Given the description of an element on the screen output the (x, y) to click on. 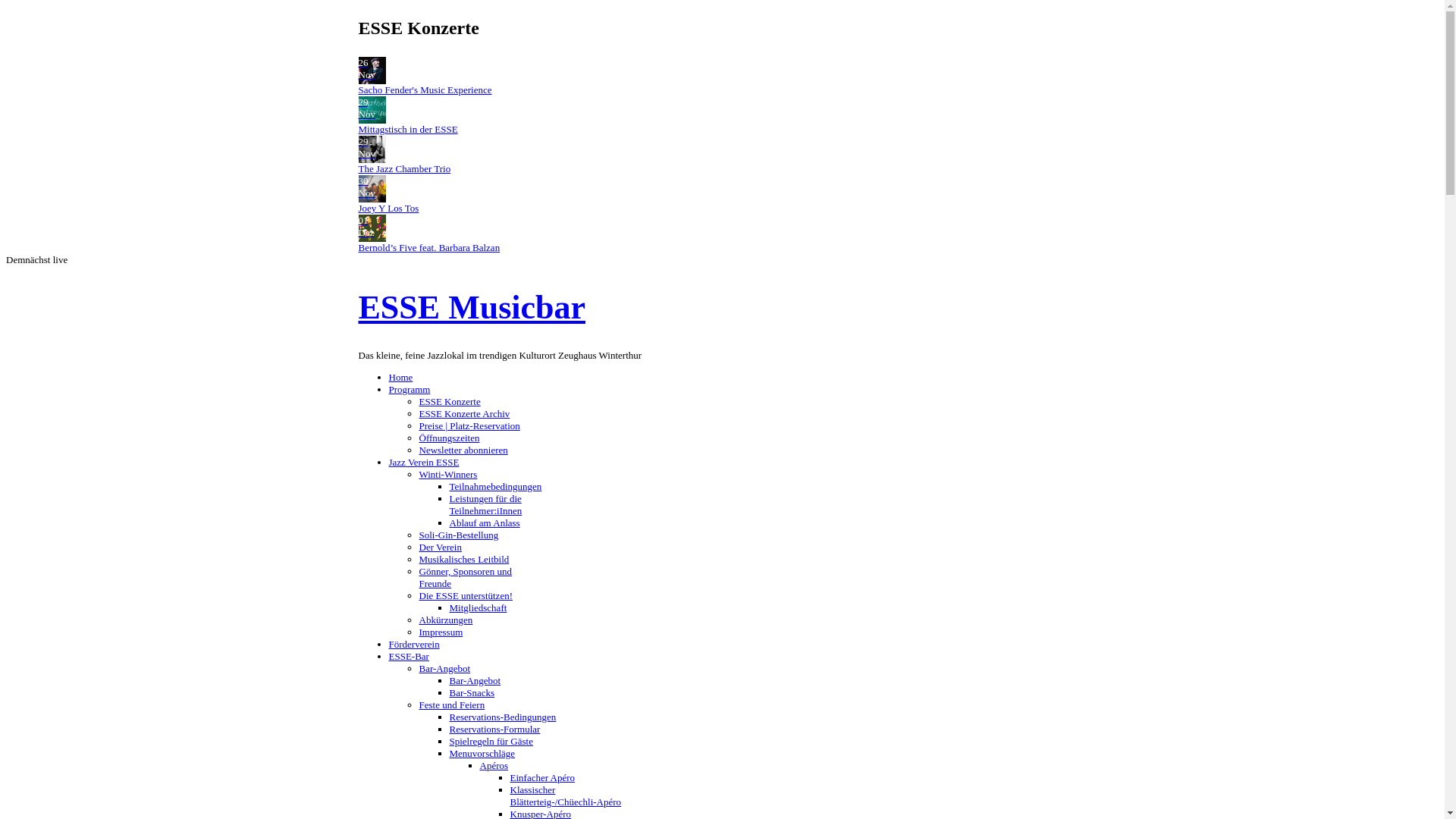
Winti-Winners Element type: text (447, 474)
Musikalisches Leitbild Element type: text (463, 558)
Newsletter abonnieren Element type: text (462, 449)
Teilnahmebedingungen Element type: text (494, 486)
Bar-Angebot Element type: text (474, 680)
ESSE Konzerte Element type: text (449, 401)
29
Nov
Mittagstisch in der ESSE Element type: text (721, 115)
Reservations-Bedingungen Element type: text (501, 716)
Der Verein Element type: text (439, 546)
Feste und Feiern Element type: text (451, 704)
30
Nov
Joey Y Los Tos Element type: text (721, 194)
Reservations-Formular Element type: text (493, 728)
Programm Element type: text (408, 389)
29
Nov
The Jazz Chamber Trio Element type: text (721, 155)
Home Element type: text (400, 376)
Preise | Platz-Reservation Element type: text (468, 425)
Soli-Gin-Bestellung Element type: text (458, 534)
Ablauf am Anlass Element type: text (483, 522)
ESSE Konzerte Archiv Element type: text (463, 413)
ESSE Musicbar Element type: text (471, 307)
26
Nov
Sacho Fender's Music Experience Element type: text (721, 76)
Impressum Element type: text (440, 631)
Mitgliedschaft Element type: text (477, 607)
ESSE-Bar Element type: text (408, 656)
Bar-Angebot Element type: text (444, 668)
Bar-Snacks Element type: text (471, 692)
Jazz Verein ESSE Element type: text (423, 461)
